Given the description of an element on the screen output the (x, y) to click on. 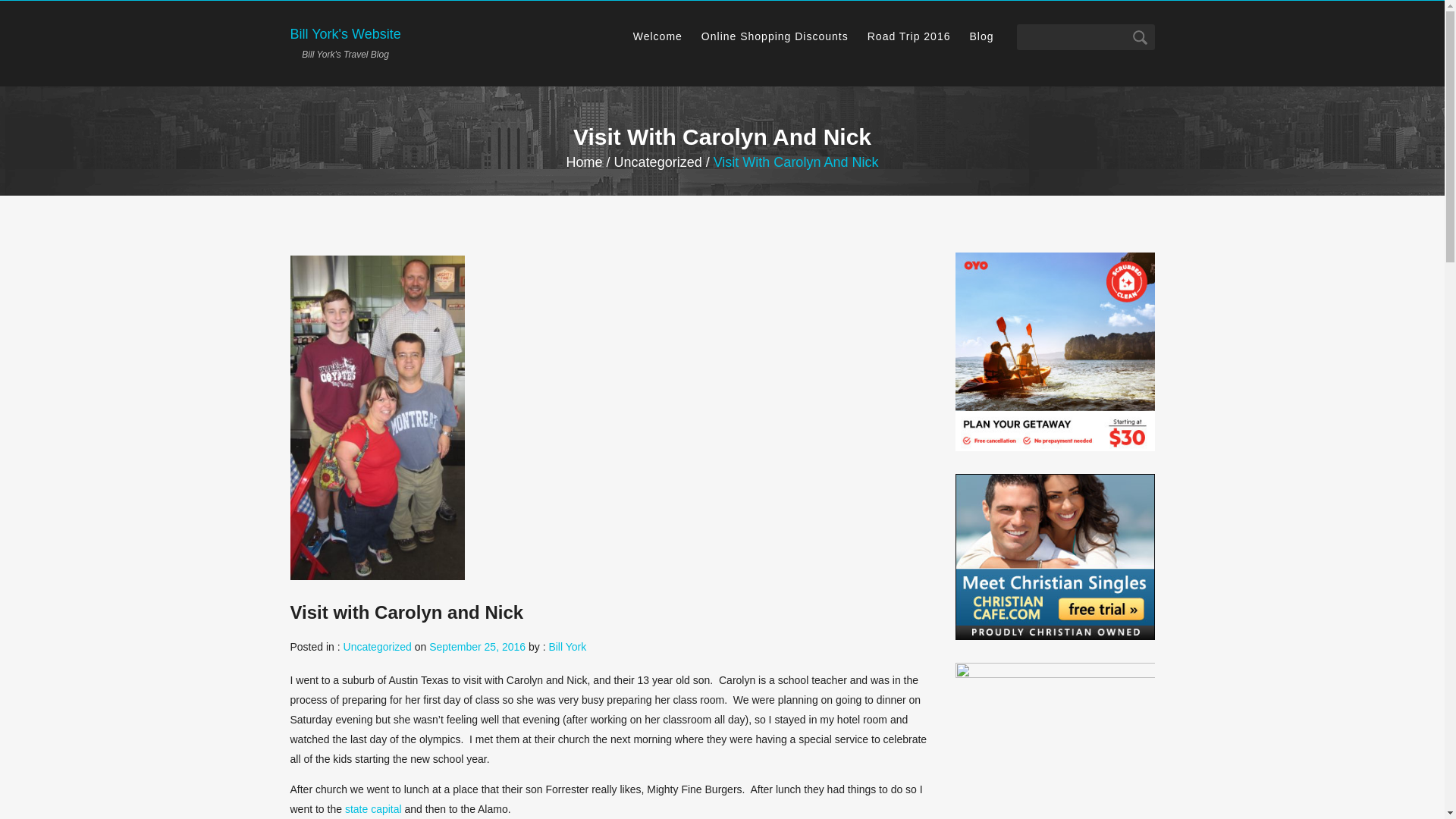
Uncategorized (377, 646)
September 25, 2016 (477, 646)
View all posts by Bill York (567, 646)
state capital (373, 808)
Welcome (344, 43)
Road Trip 2016 (657, 36)
Online Shopping Discounts (908, 36)
Uncategorized (774, 36)
Home (657, 161)
